Given the description of an element on the screen output the (x, y) to click on. 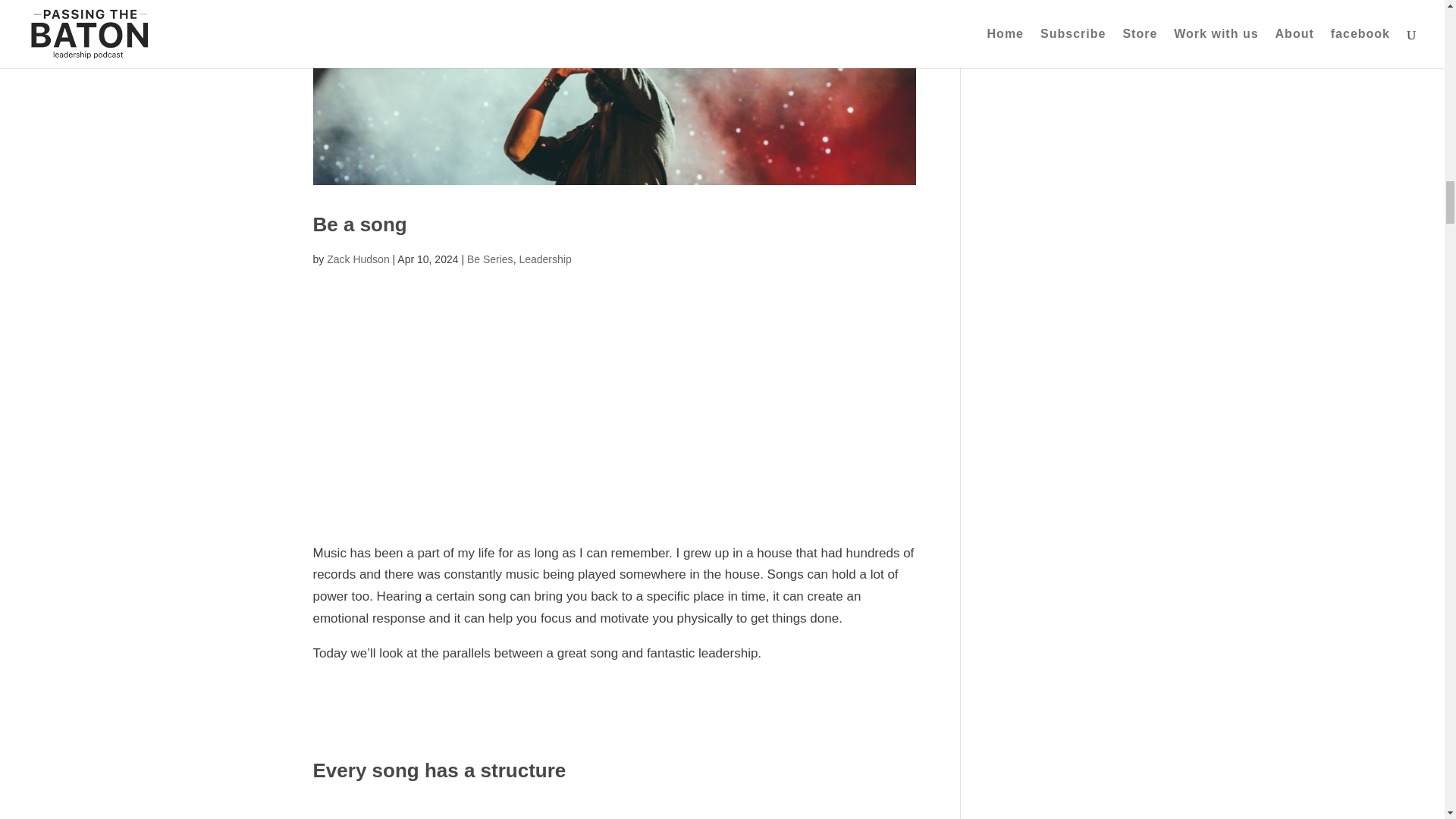
Be Series (490, 259)
Leadership (544, 259)
Be a song (359, 223)
Zack Hudson (357, 259)
Posts by Zack Hudson (357, 259)
Embed Player (614, 410)
